Given the description of an element on the screen output the (x, y) to click on. 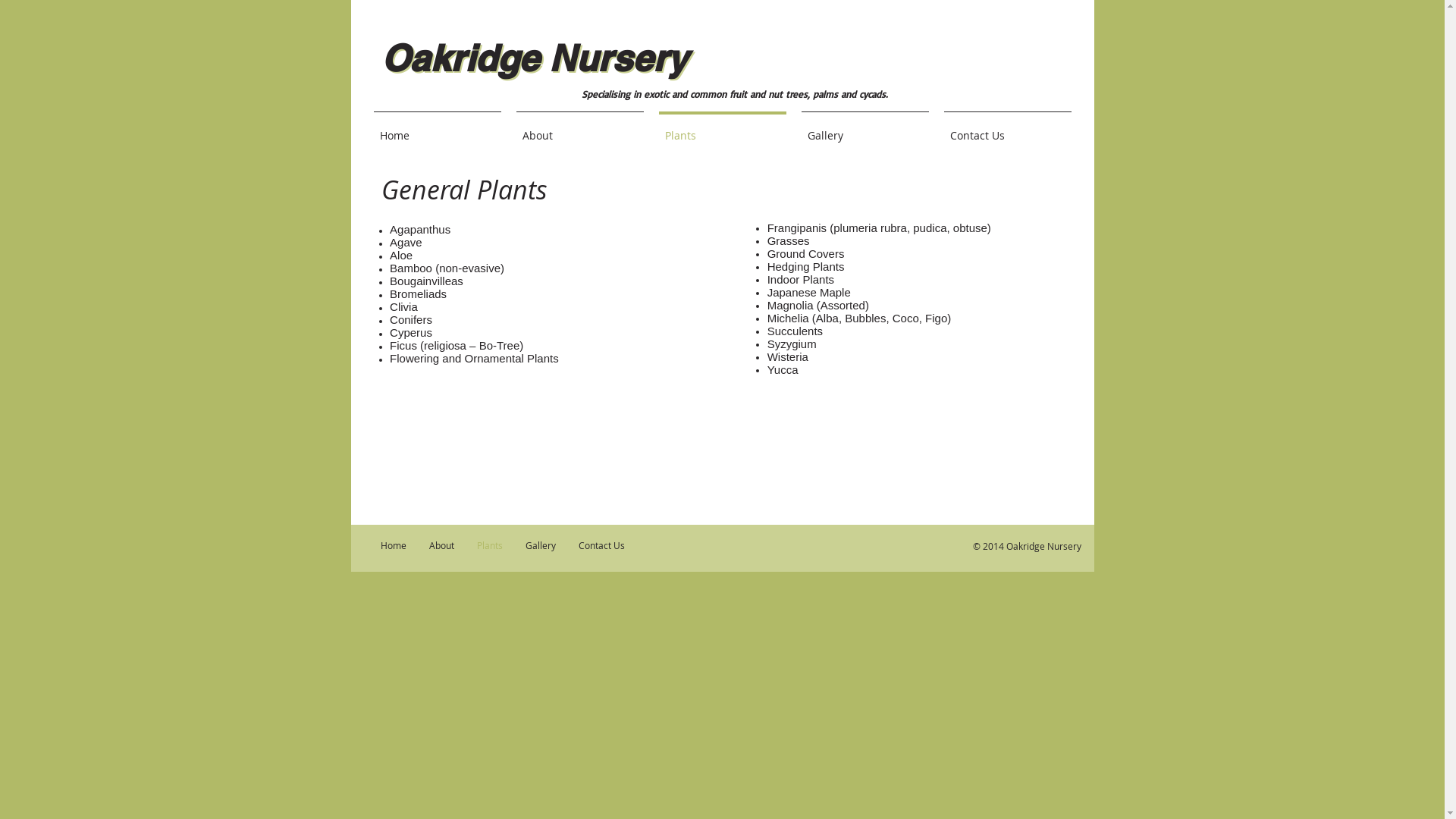
Gallery Element type: text (864, 128)
About Element type: text (440, 544)
Gallery Element type: text (540, 544)
Home Element type: text (436, 128)
Contact Us Element type: text (601, 544)
Plants Element type: text (489, 544)
Home Element type: text (392, 544)
Plants Element type: text (721, 128)
About Element type: text (579, 128)
Contact Us Element type: text (1006, 128)
